Given the description of an element on the screen output the (x, y) to click on. 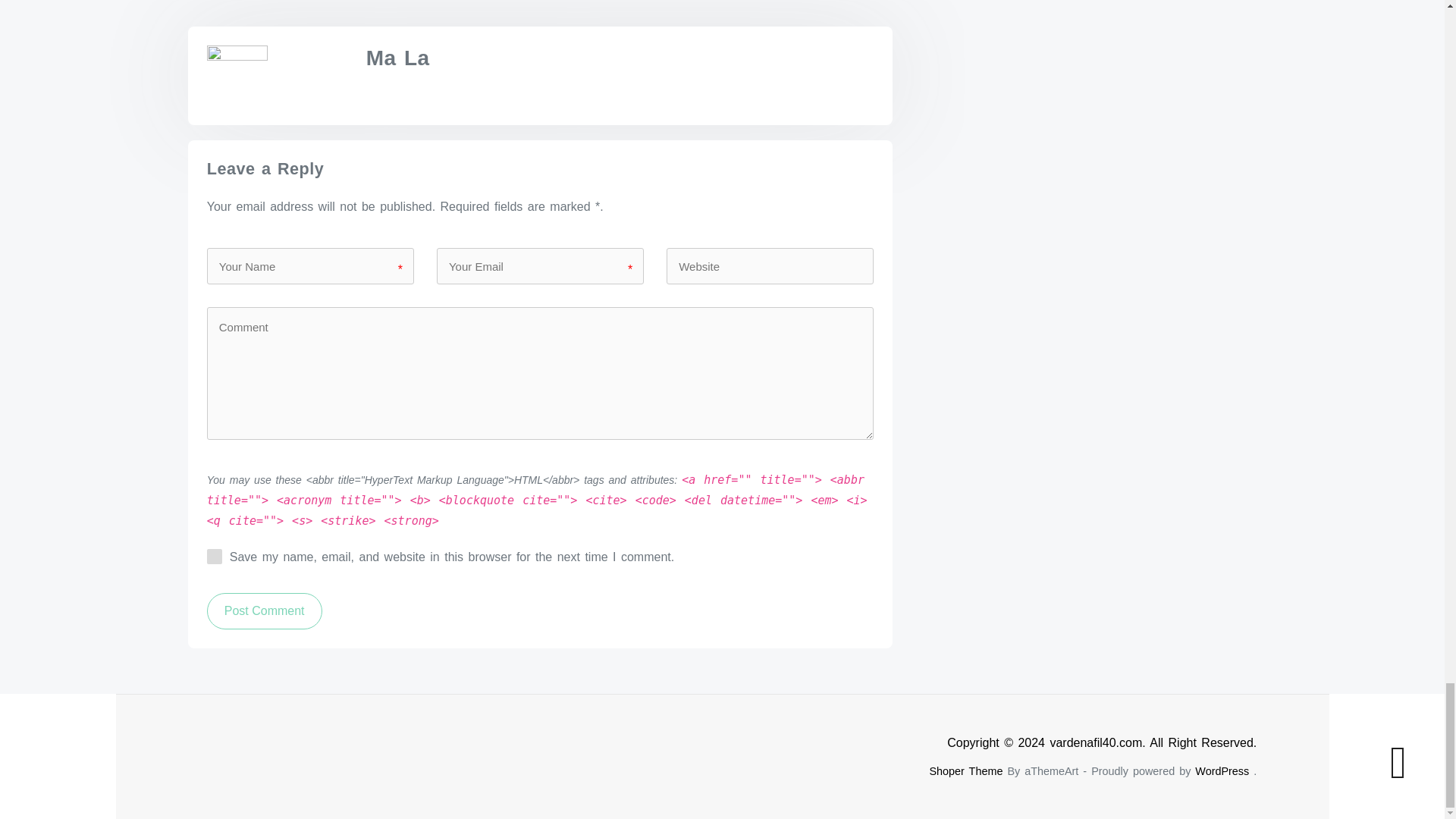
WordPress (1222, 770)
yes (214, 556)
Post Comment (263, 610)
Shoper Theme (965, 770)
